Given the description of an element on the screen output the (x, y) to click on. 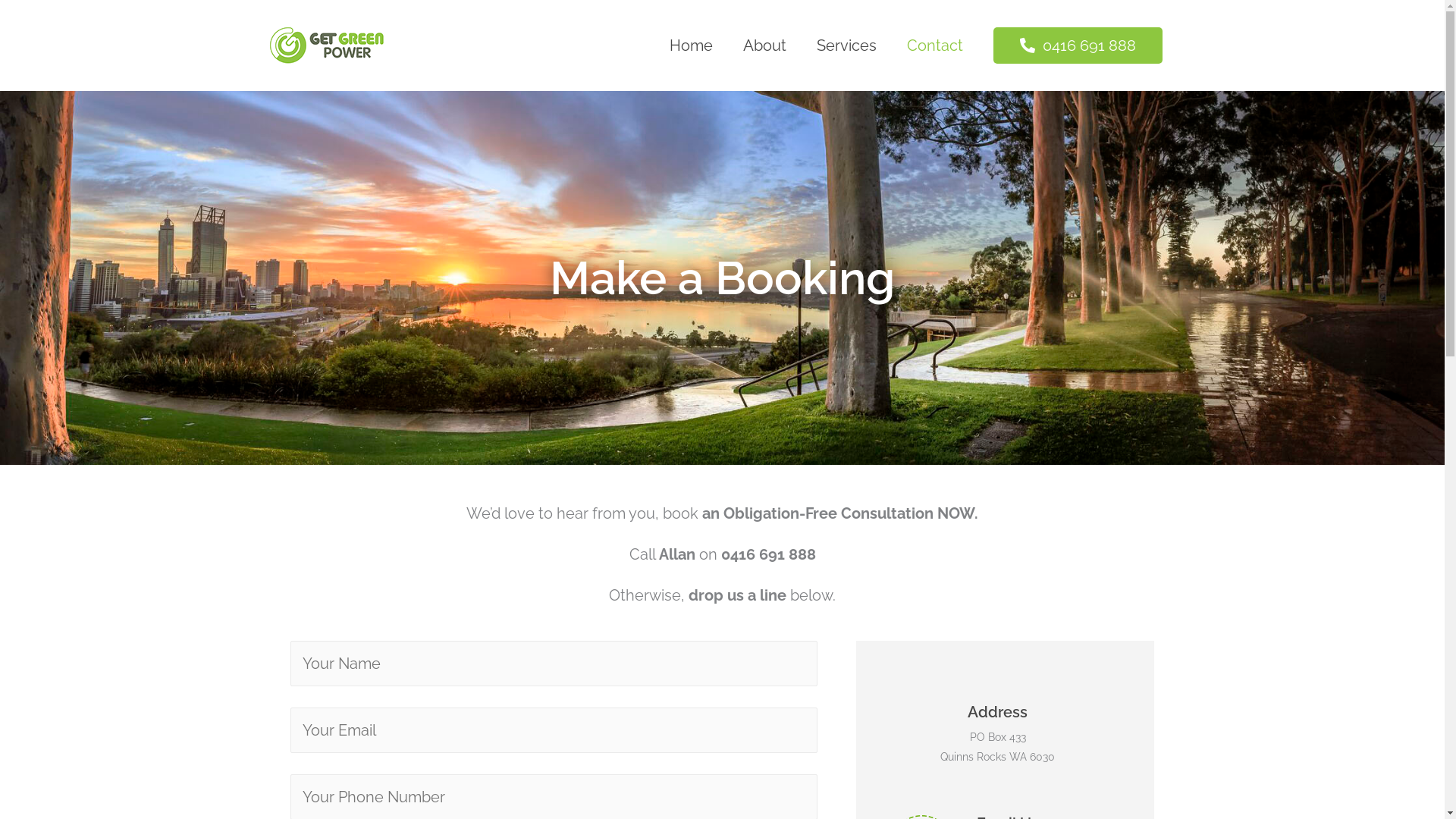
Contact Element type: text (934, 45)
Home Element type: text (690, 45)
  0416 691 888 Element type: text (1077, 45)
Services Element type: text (845, 45)
  0416 691 888 Element type: text (1077, 45)
About Element type: text (764, 45)
